Given the description of an element on the screen output the (x, y) to click on. 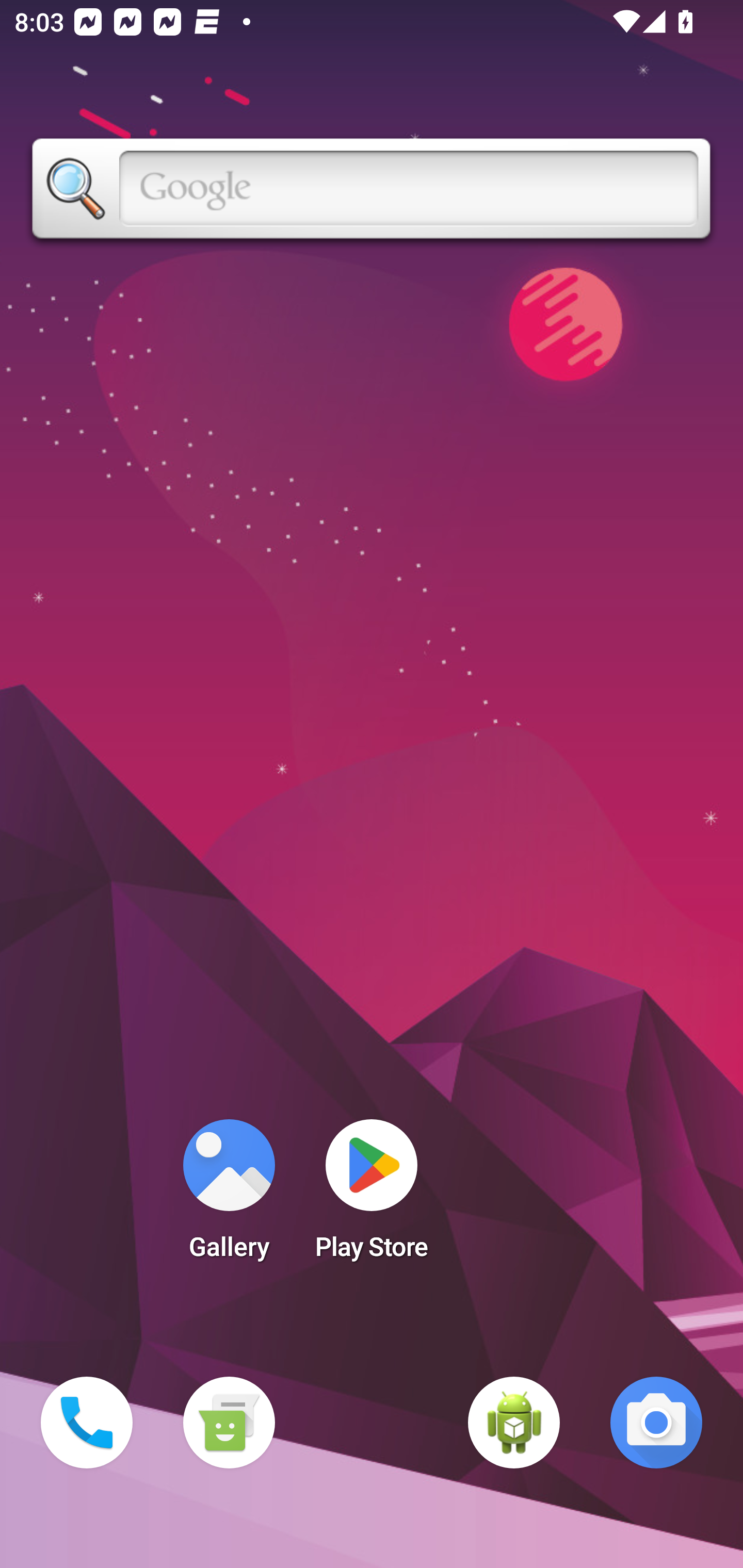
Gallery (228, 1195)
Play Store (371, 1195)
Phone (86, 1422)
Messaging (228, 1422)
WebView Browser Tester (513, 1422)
Camera (656, 1422)
